Given the description of an element on the screen output the (x, y) to click on. 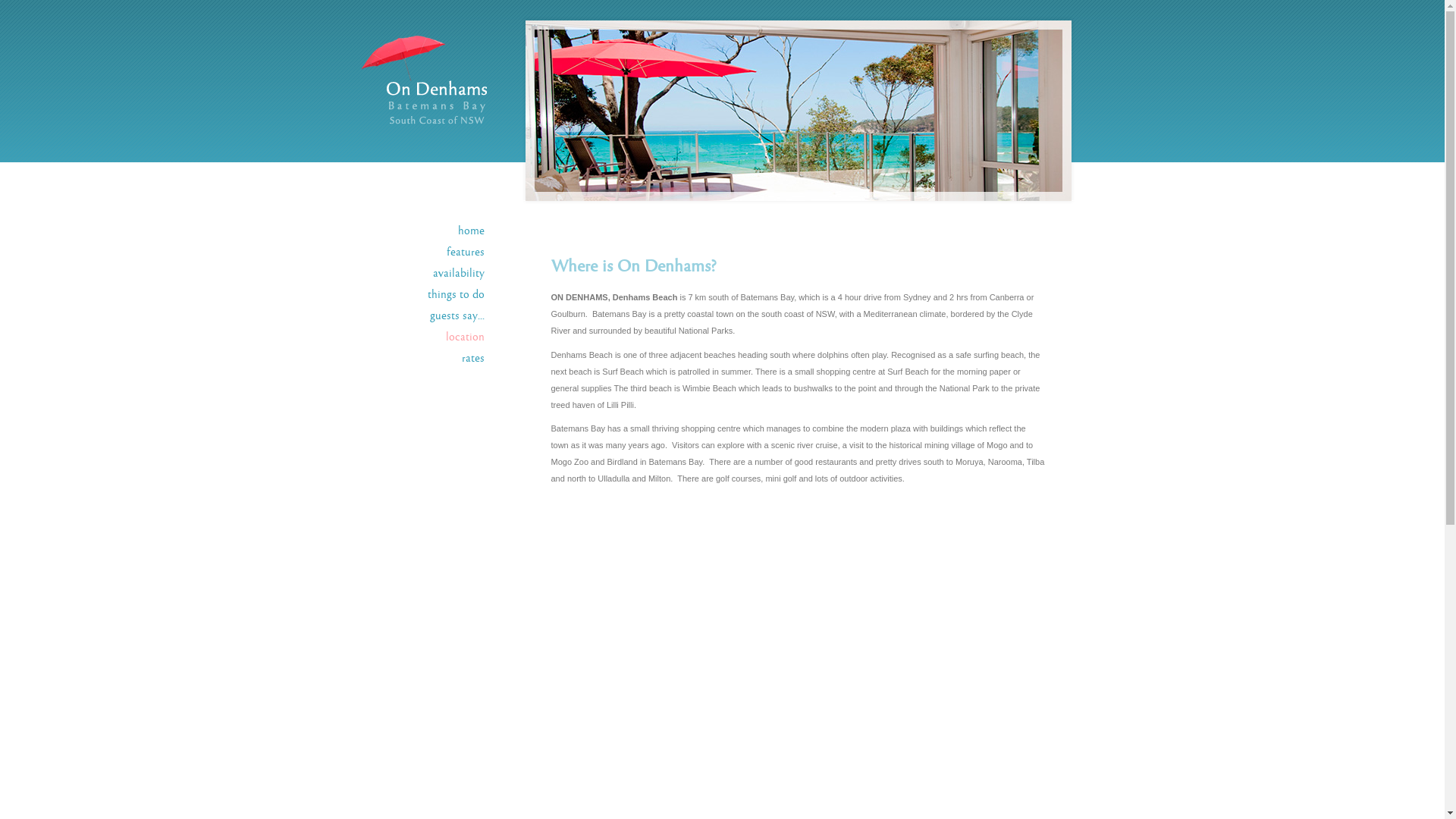
features Element type: text (464, 252)
rates Element type: text (472, 358)
location Element type: text (464, 337)
guests say... Element type: text (456, 316)
availability Element type: text (457, 273)
things to do Element type: text (455, 294)
home Element type: text (471, 231)
